Given the description of an element on the screen output the (x, y) to click on. 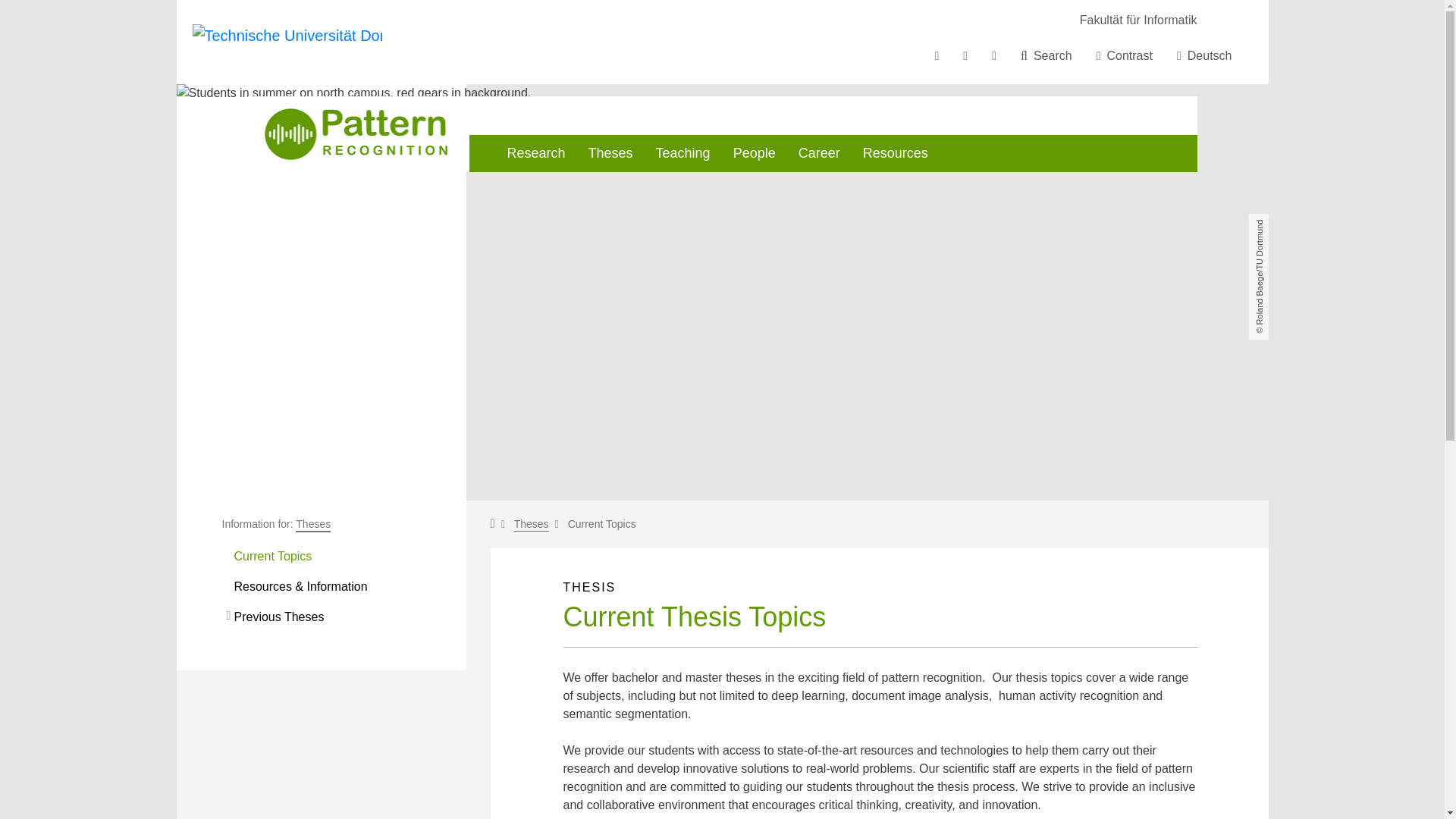
Search (1046, 55)
Contrast (1124, 55)
Search (1046, 55)
Theses (530, 524)
Contrast (1124, 55)
To the home page (286, 41)
Deutsch (1204, 55)
